Given the description of an element on the screen output the (x, y) to click on. 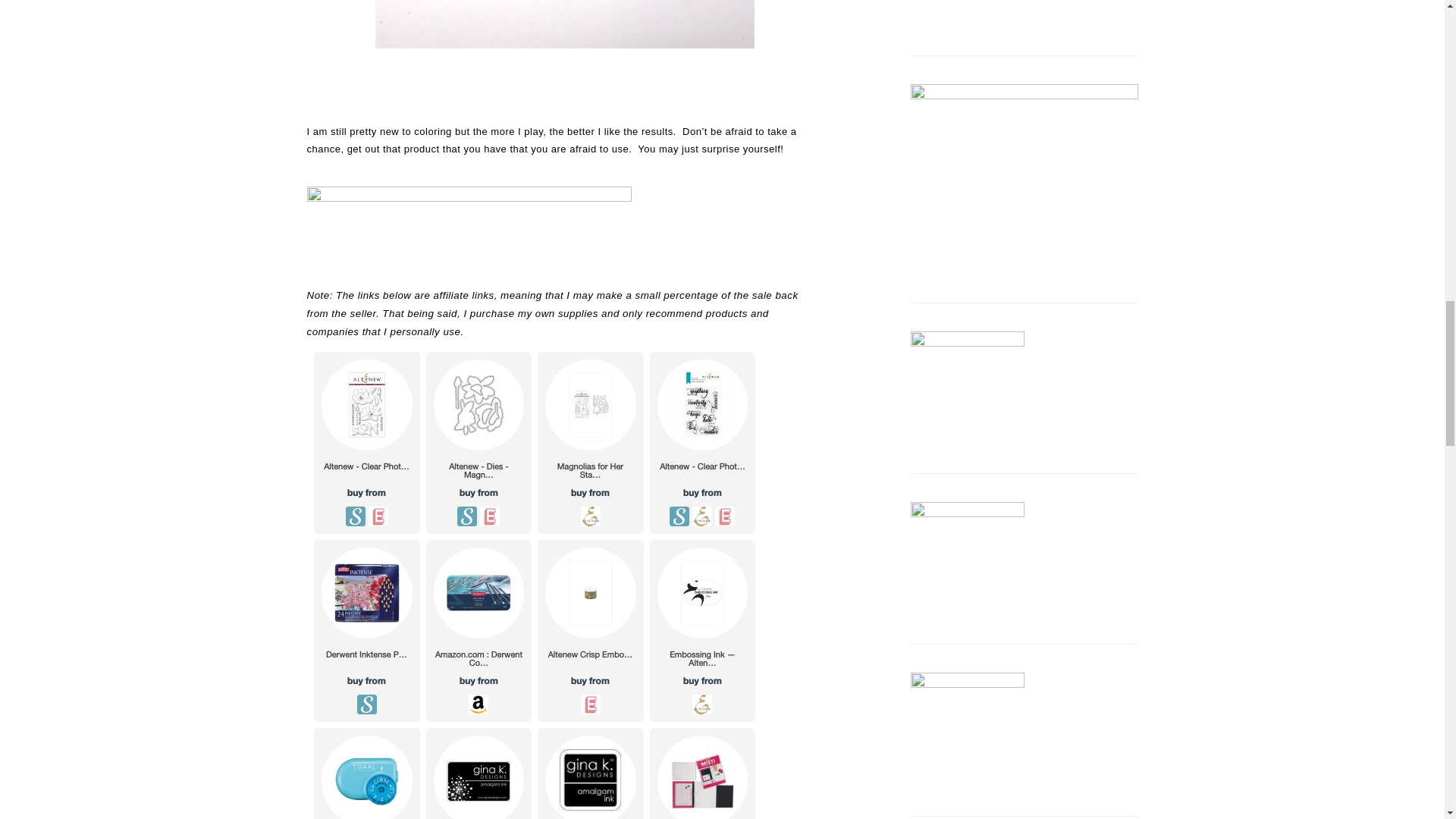
IT 2024 (966, 388)
